Given the description of an element on the screen output the (x, y) to click on. 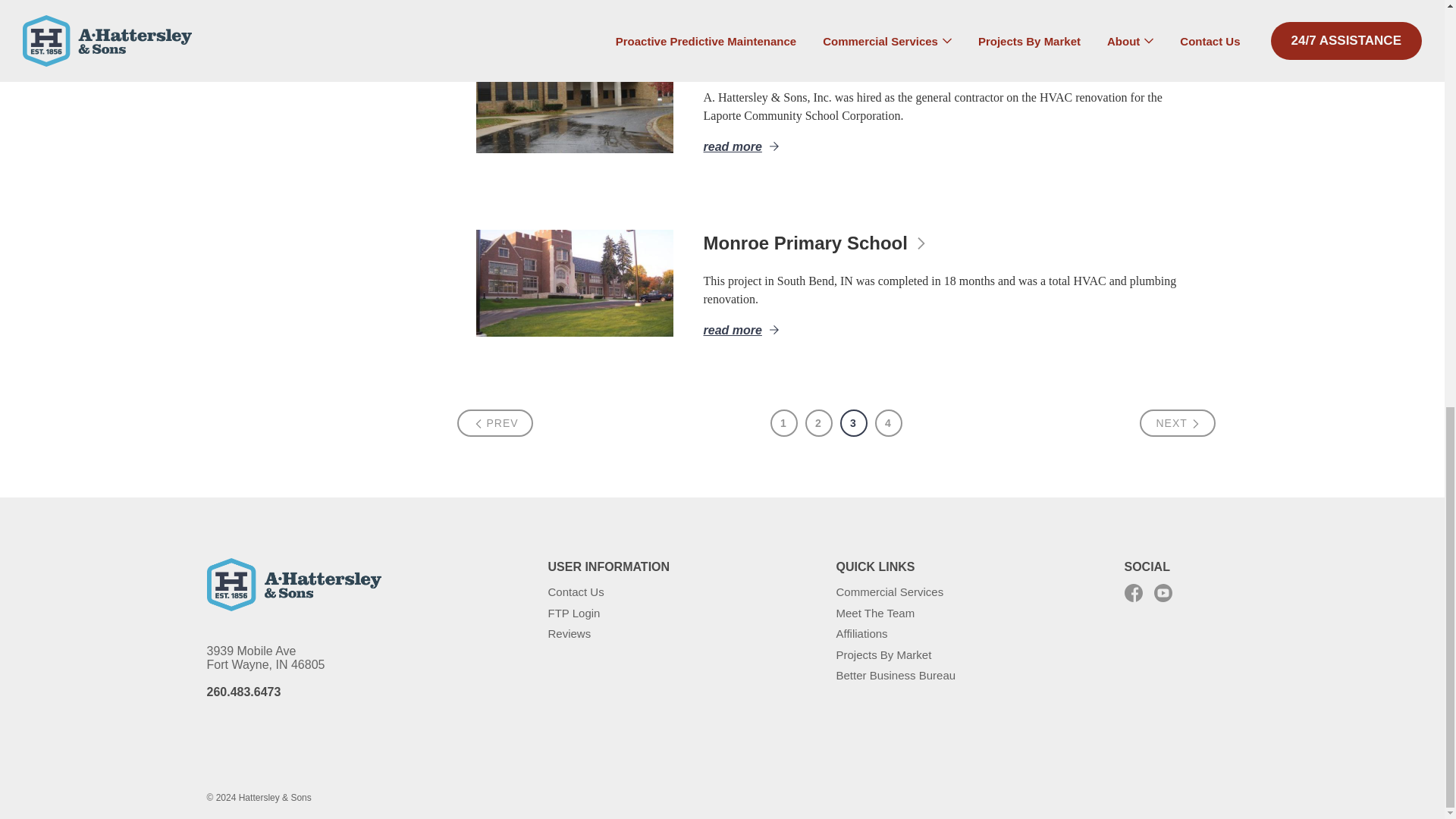
Monroe Primary School (574, 283)
Like us on Facebook (1132, 592)
Subscribe to us on YouTube (1163, 592)
Handley Elementary (574, 99)
